Given the description of an element on the screen output the (x, y) to click on. 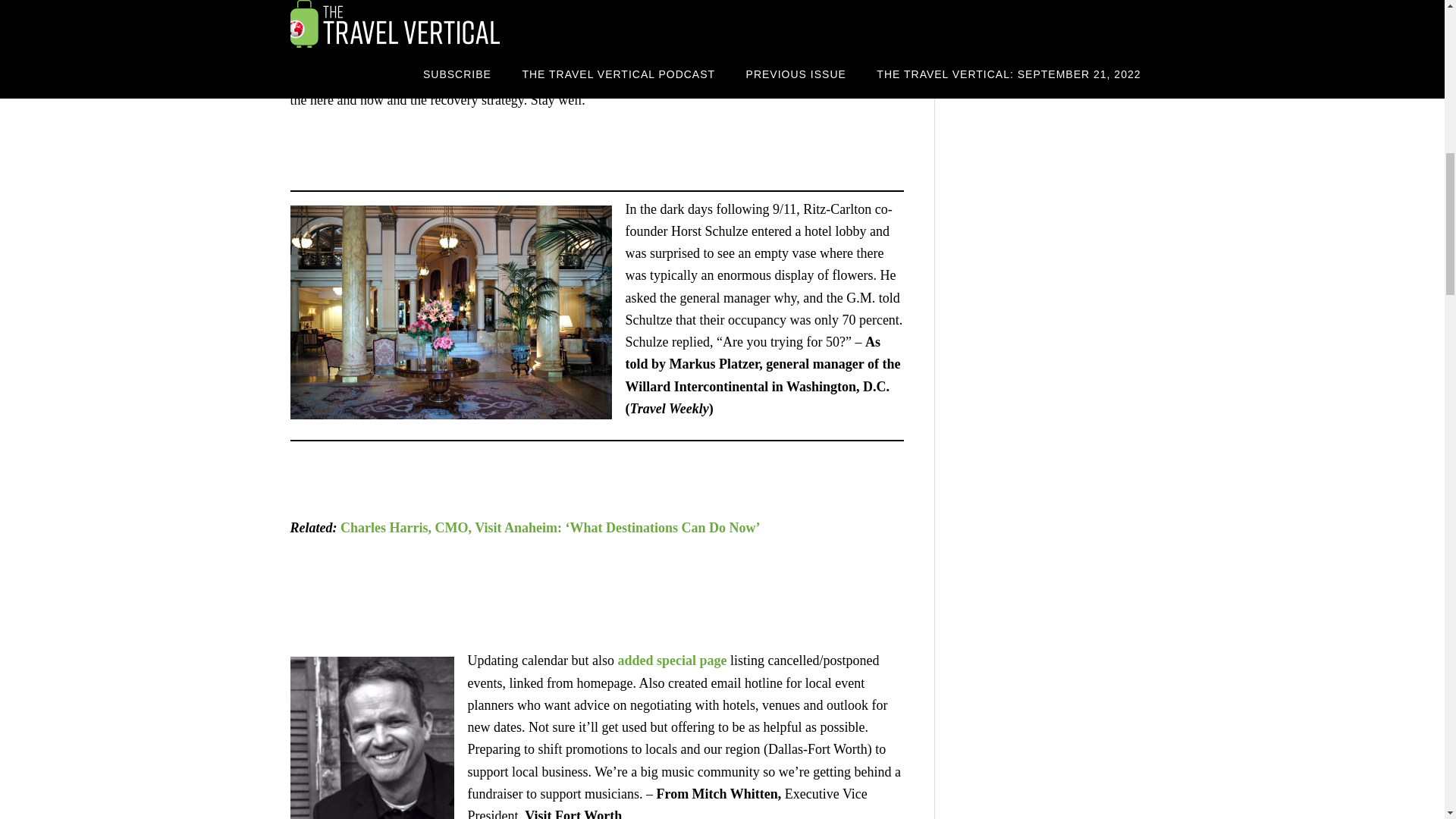
added special page (671, 660)
